Given the description of an element on the screen output the (x, y) to click on. 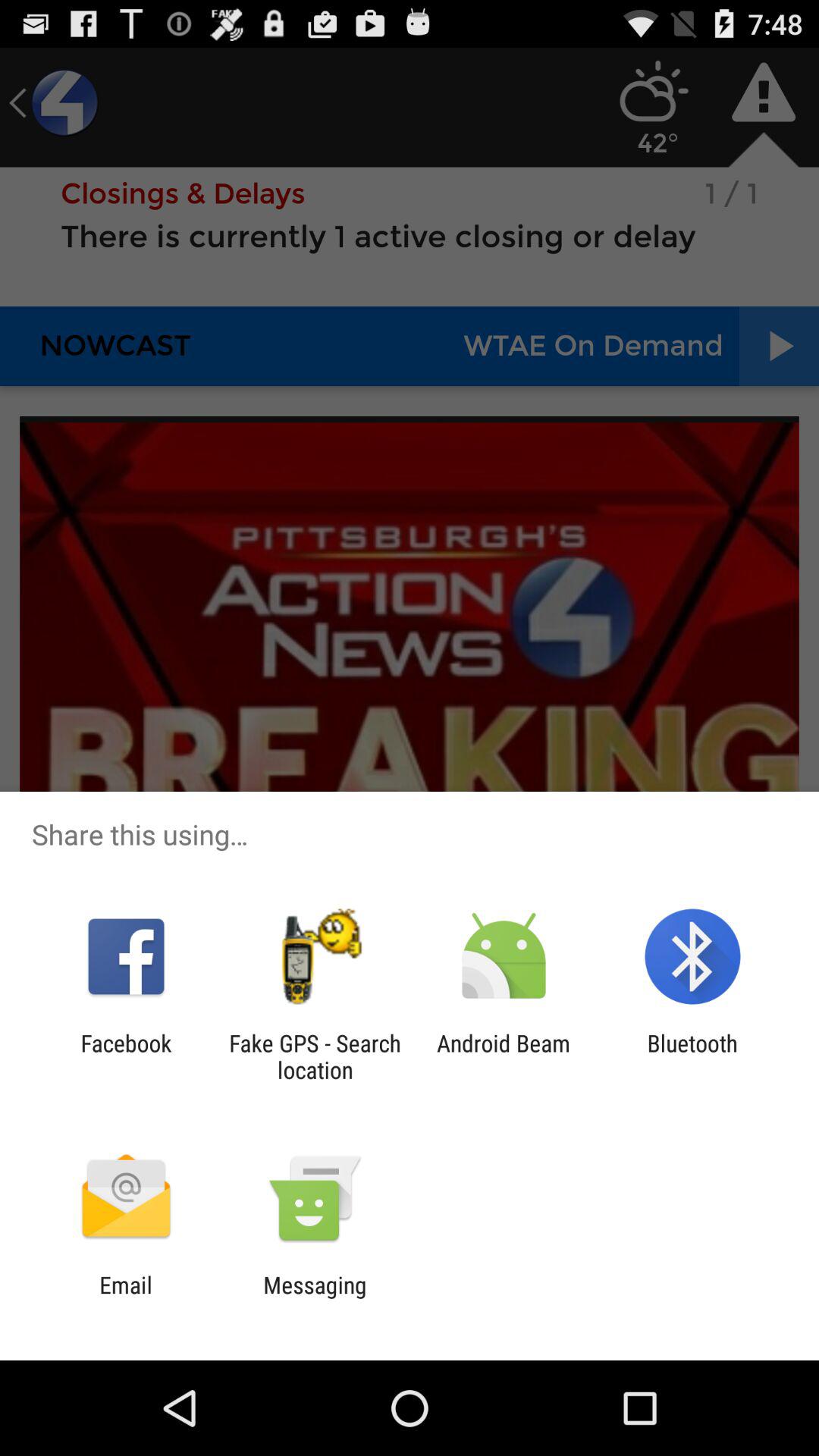
swipe to email app (125, 1298)
